Given the description of an element on the screen output the (x, y) to click on. 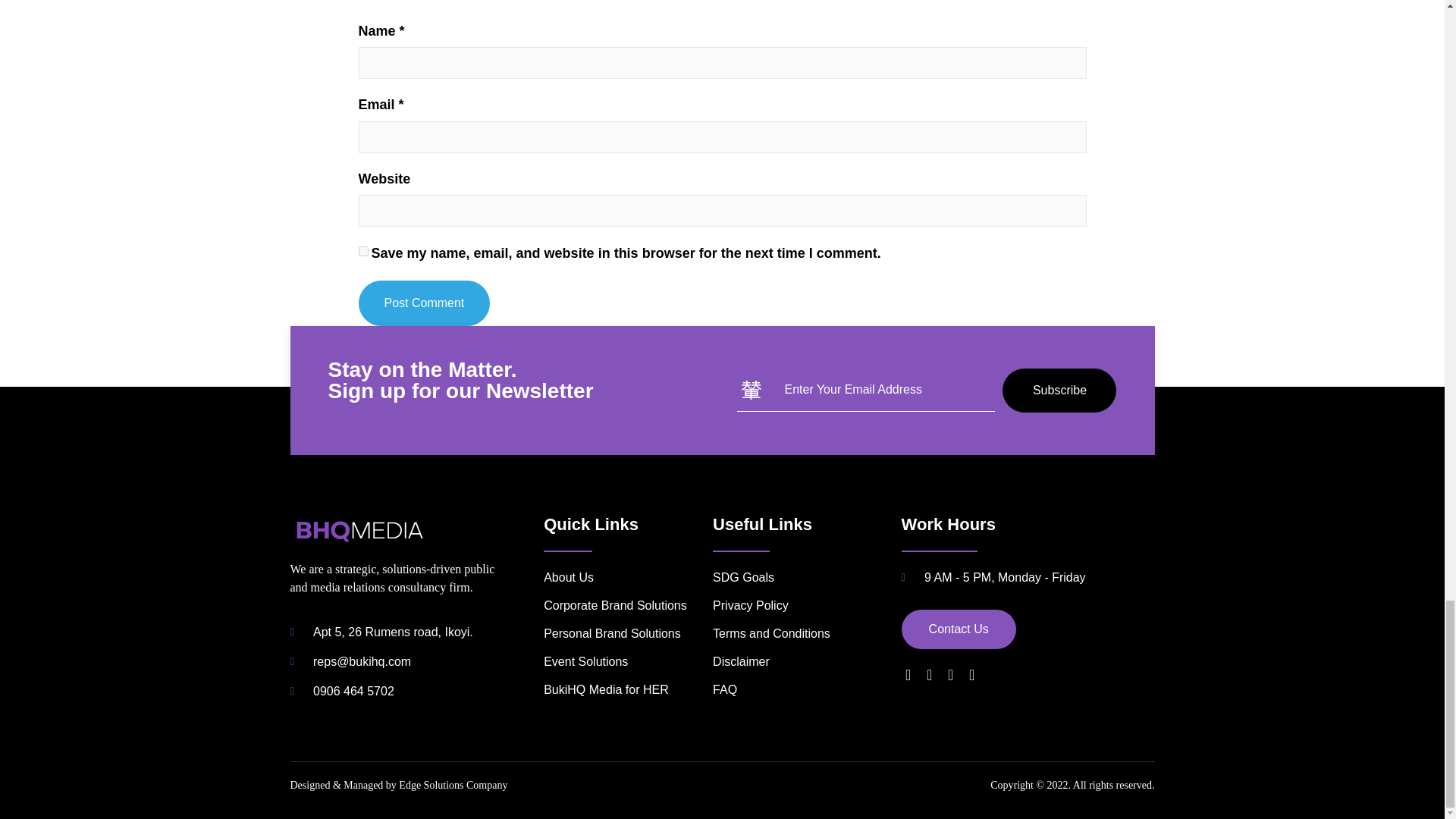
Privacy Policy (807, 606)
yes (363, 251)
Corporate Brand Solutions (623, 606)
Contact Us (958, 629)
Personal Brand Solutions (623, 633)
Disclaimer (807, 661)
FAQ (807, 689)
Post Comment (423, 302)
Event Solutions (623, 661)
About Us (623, 577)
